Given the description of an element on the screen output the (x, y) to click on. 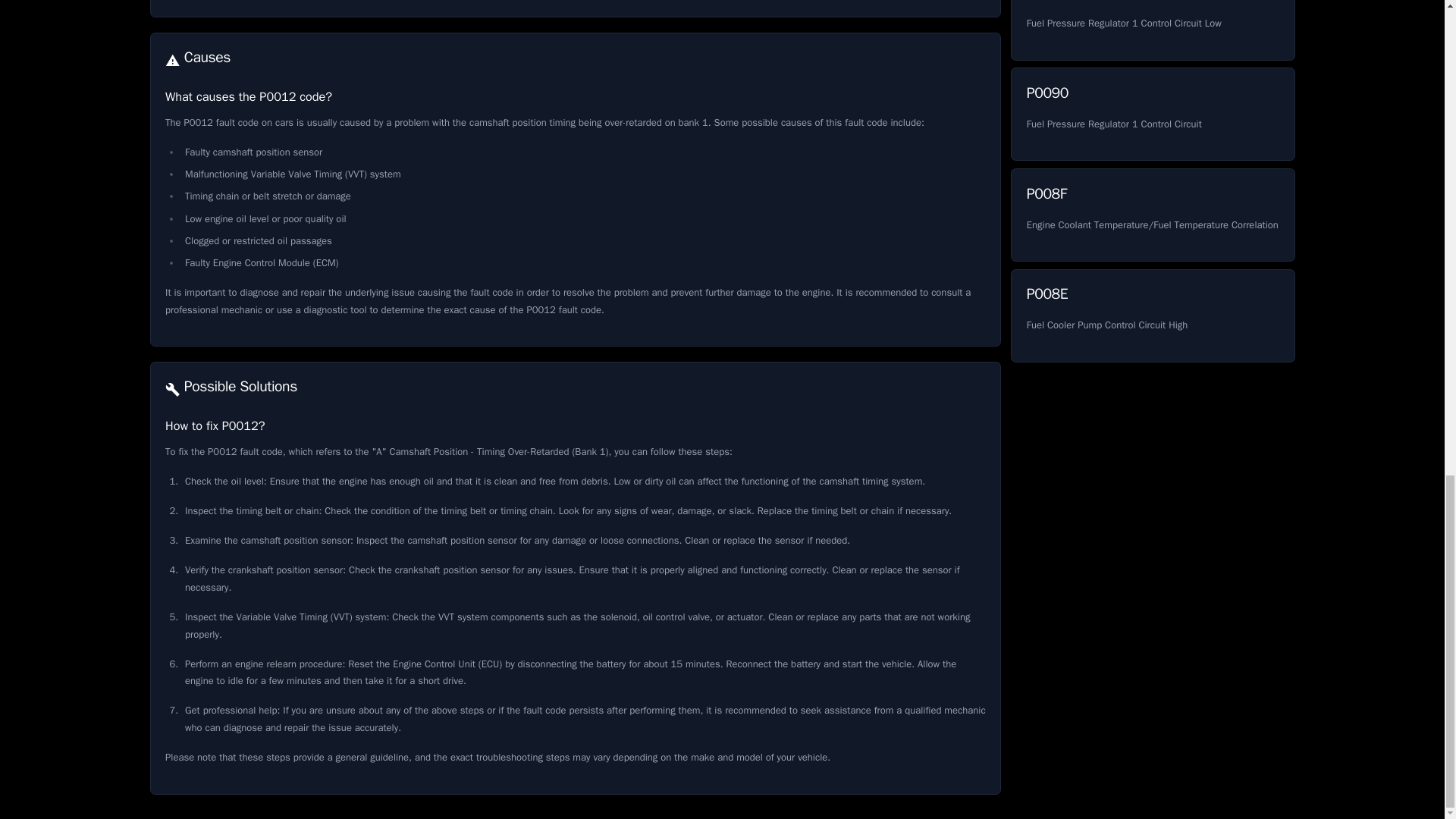
P008F (1152, 113)
P0090 (1152, 214)
P008E (1152, 113)
P0091 (1152, 315)
